Given the description of an element on the screen output the (x, y) to click on. 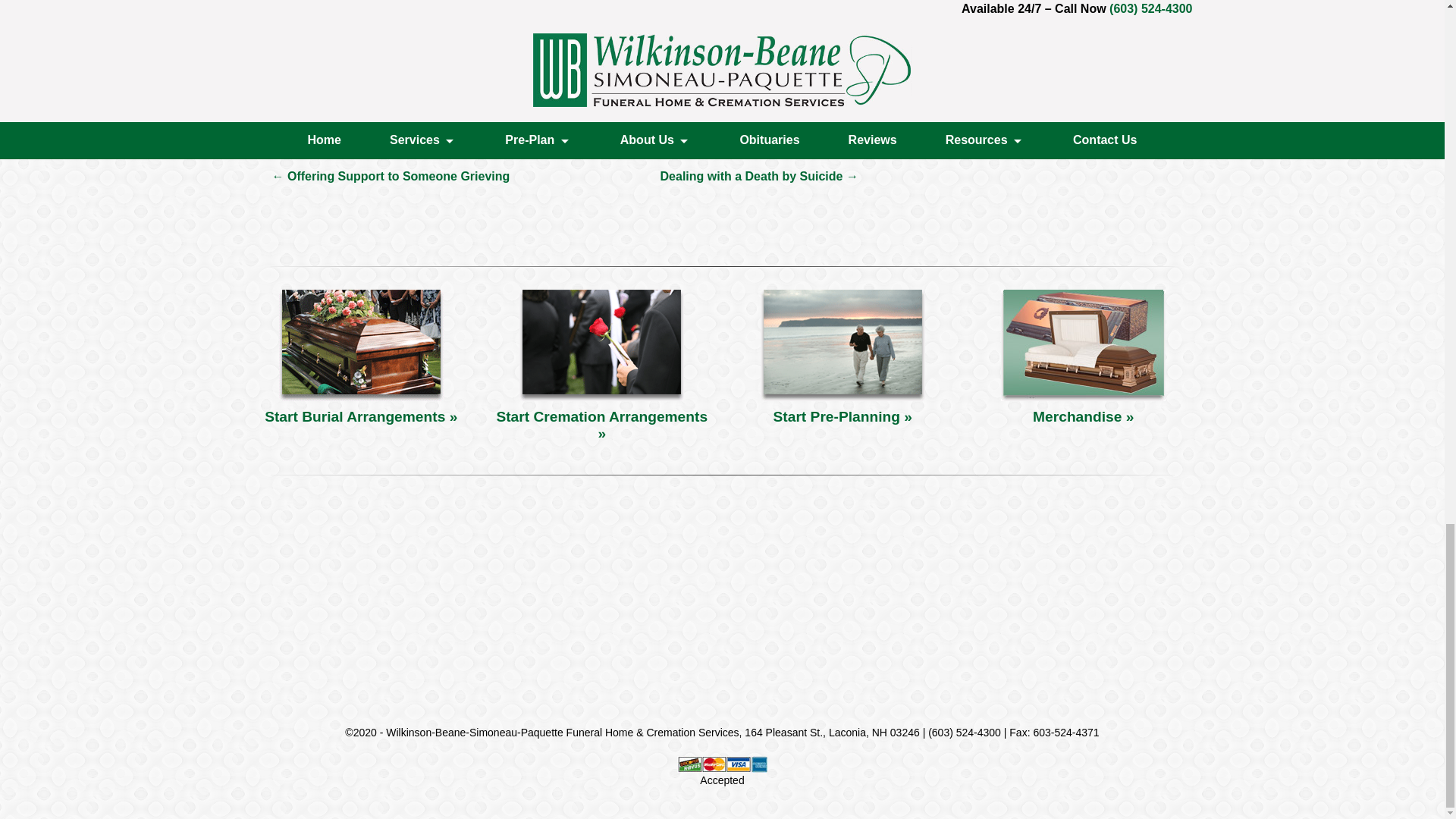
Cremation Services (561, 51)
View all posts by admin (721, 51)
admin (721, 51)
2:15 pm (657, 51)
July 25, 2022 (657, 51)
